Given the description of an element on the screen output the (x, y) to click on. 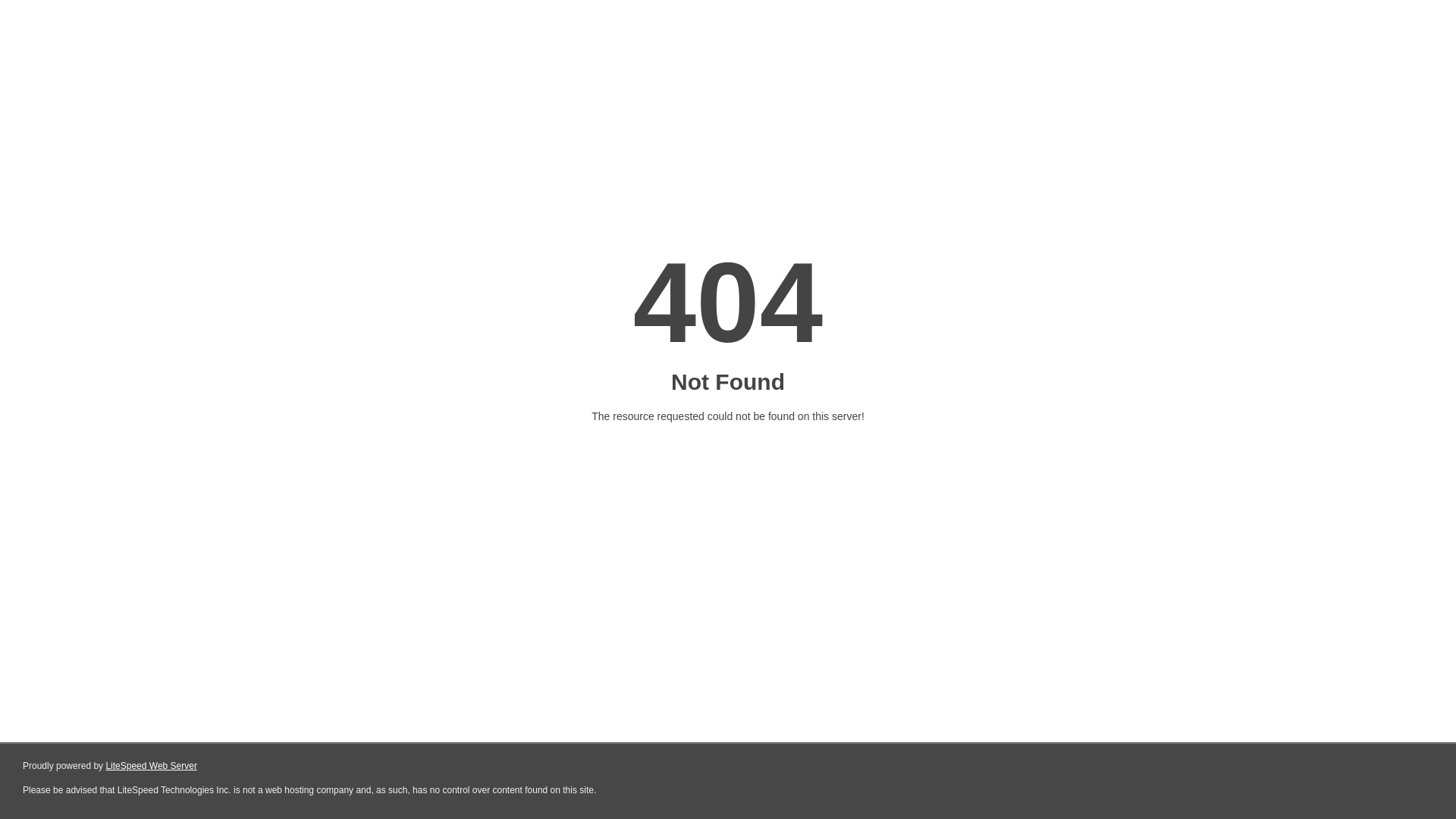
LiteSpeed Web Server Element type: text (151, 765)
